Given the description of an element on the screen output the (x, y) to click on. 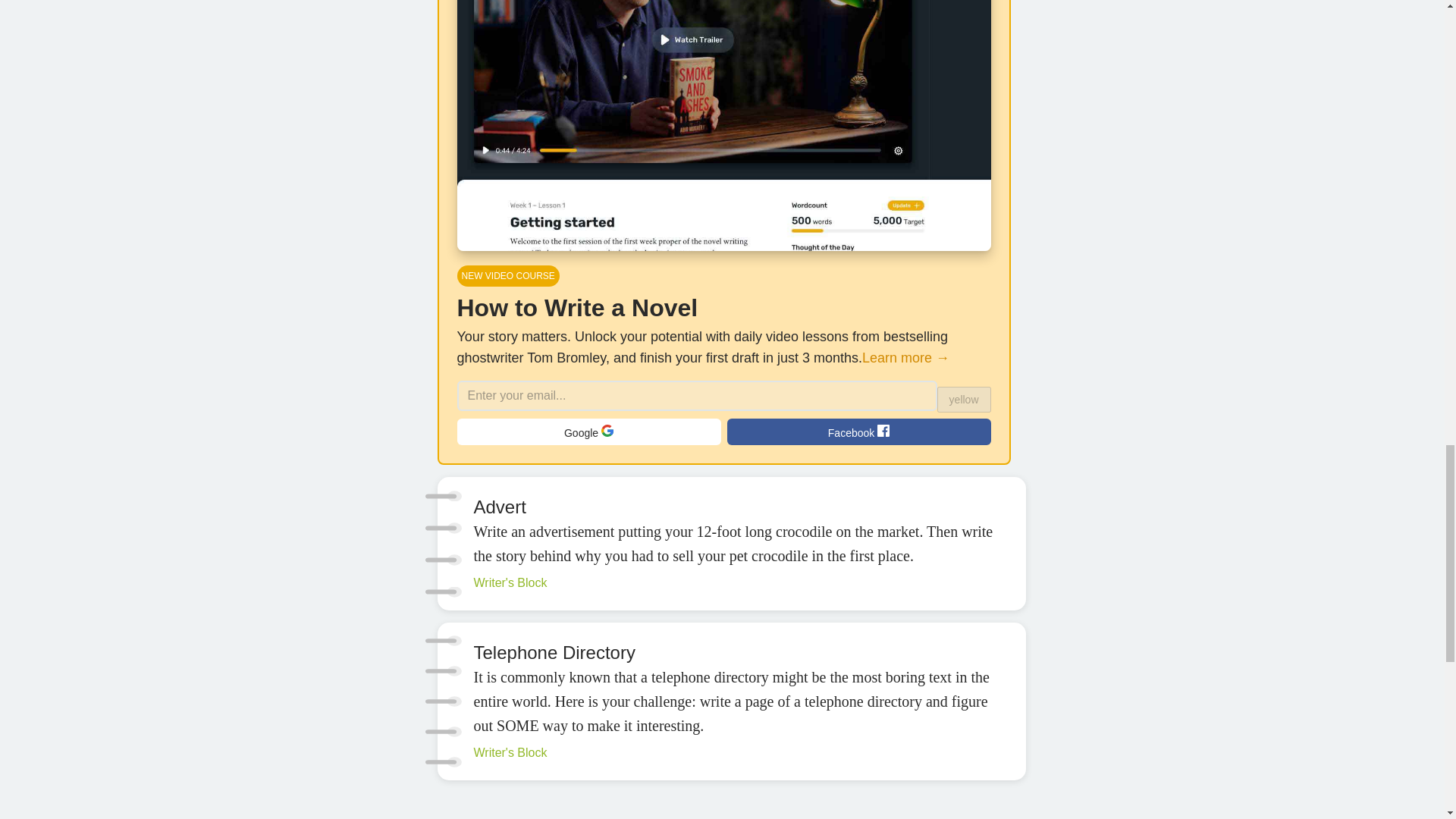
Sign in with Google (588, 431)
Sign in with Facebook (858, 431)
yellow (964, 399)
